Given the description of an element on the screen output the (x, y) to click on. 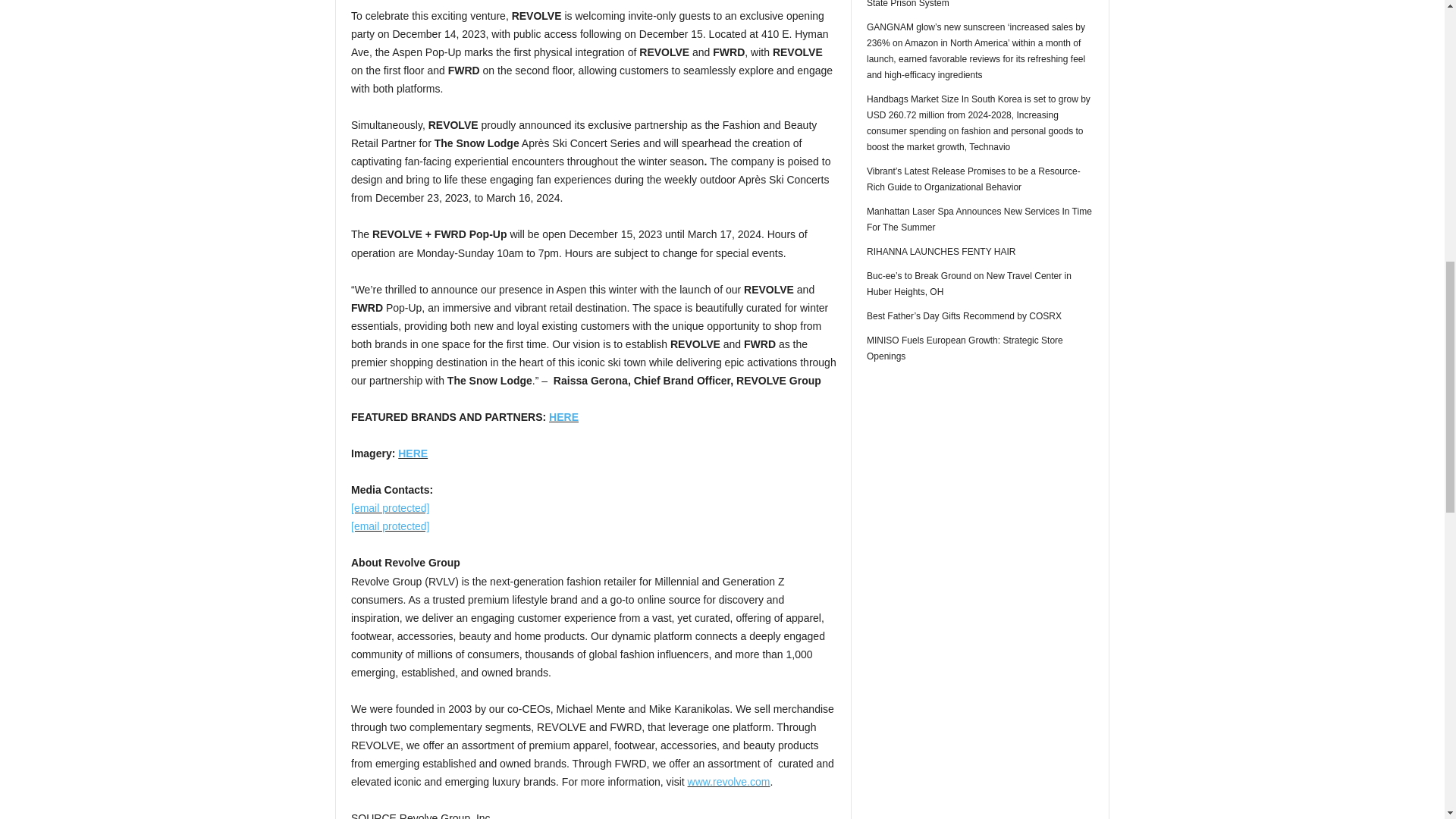
HERE (563, 417)
www.revolve.com (728, 781)
HERE (412, 453)
